Given the description of an element on the screen output the (x, y) to click on. 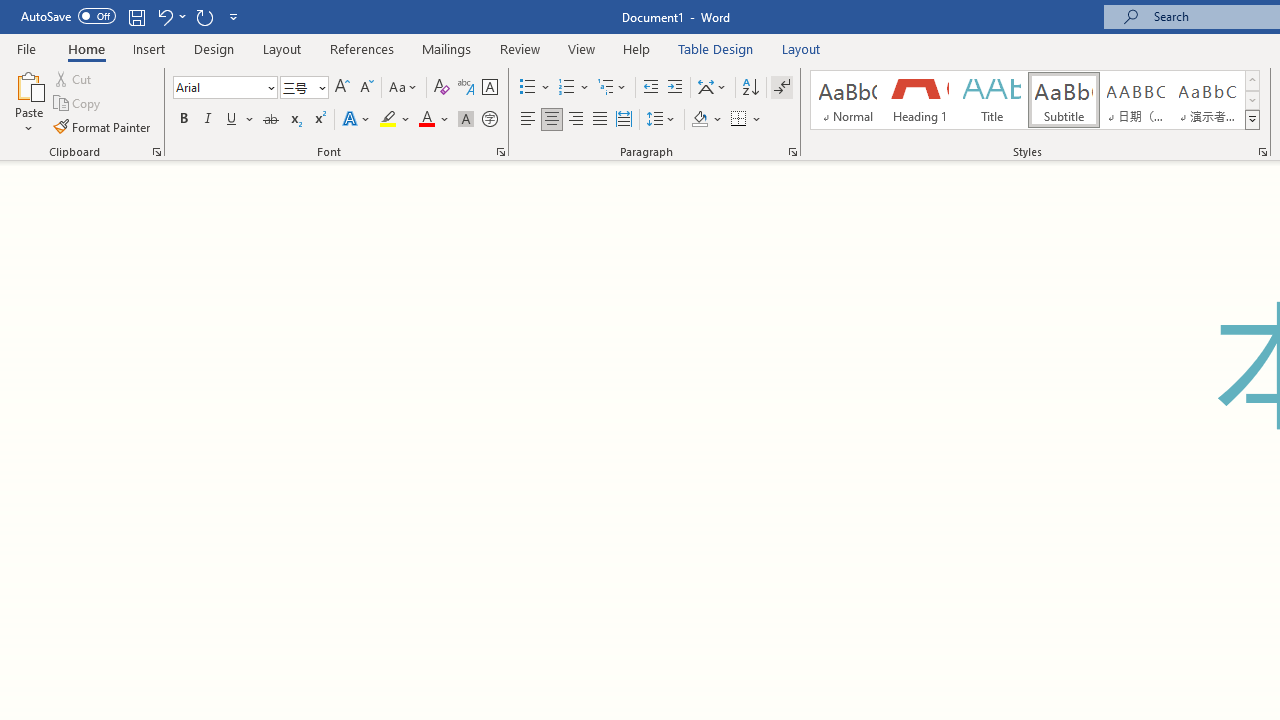
Undo Paste (164, 15)
